Given the description of an element on the screen output the (x, y) to click on. 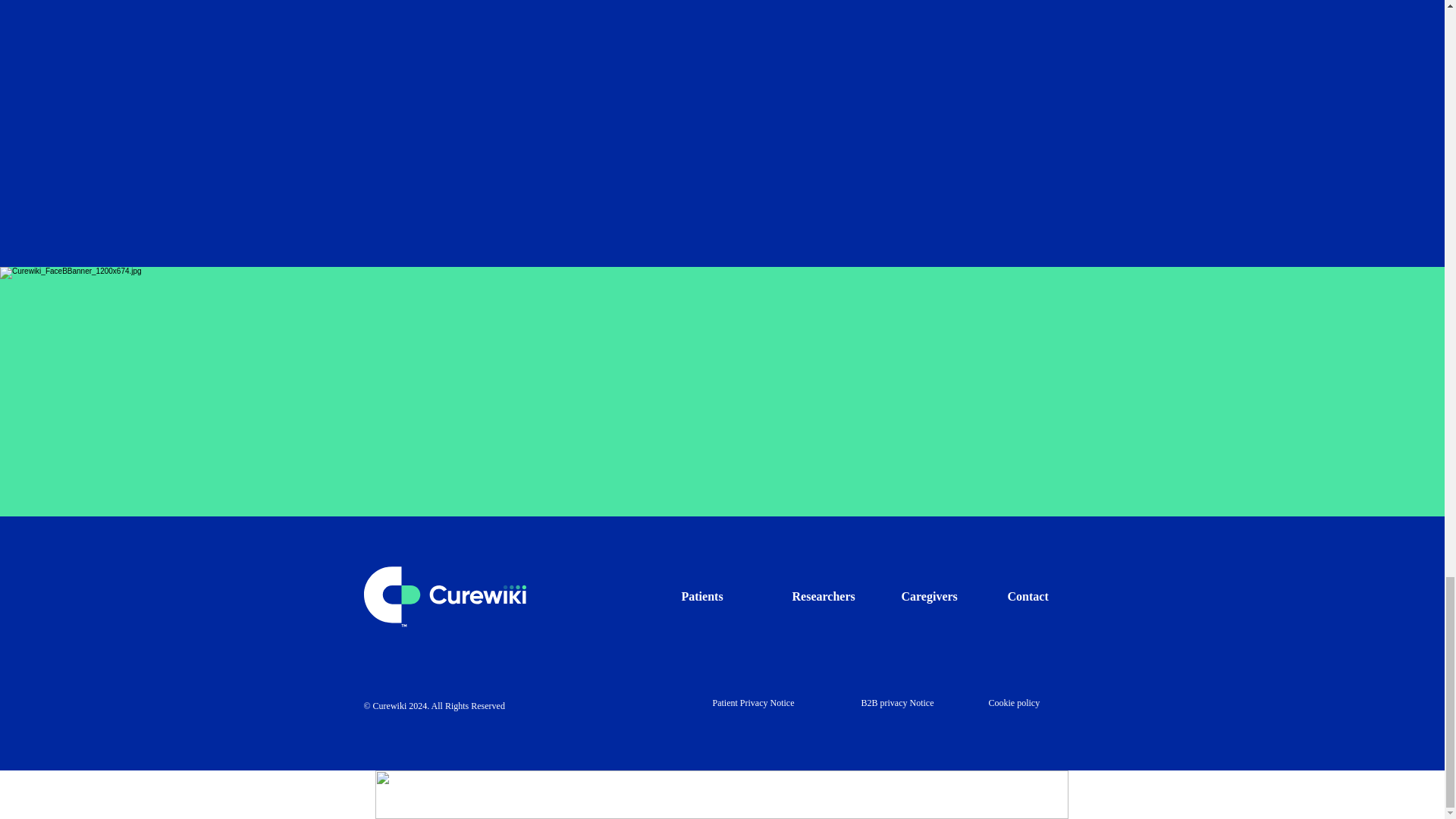
Contact (1027, 595)
Patients (701, 595)
Caregivers (928, 595)
Researchers (823, 595)
B2B privacy Notice (897, 702)
Cookie policy (1014, 702)
Patient Privacy Notice (753, 702)
